Given the description of an element on the screen output the (x, y) to click on. 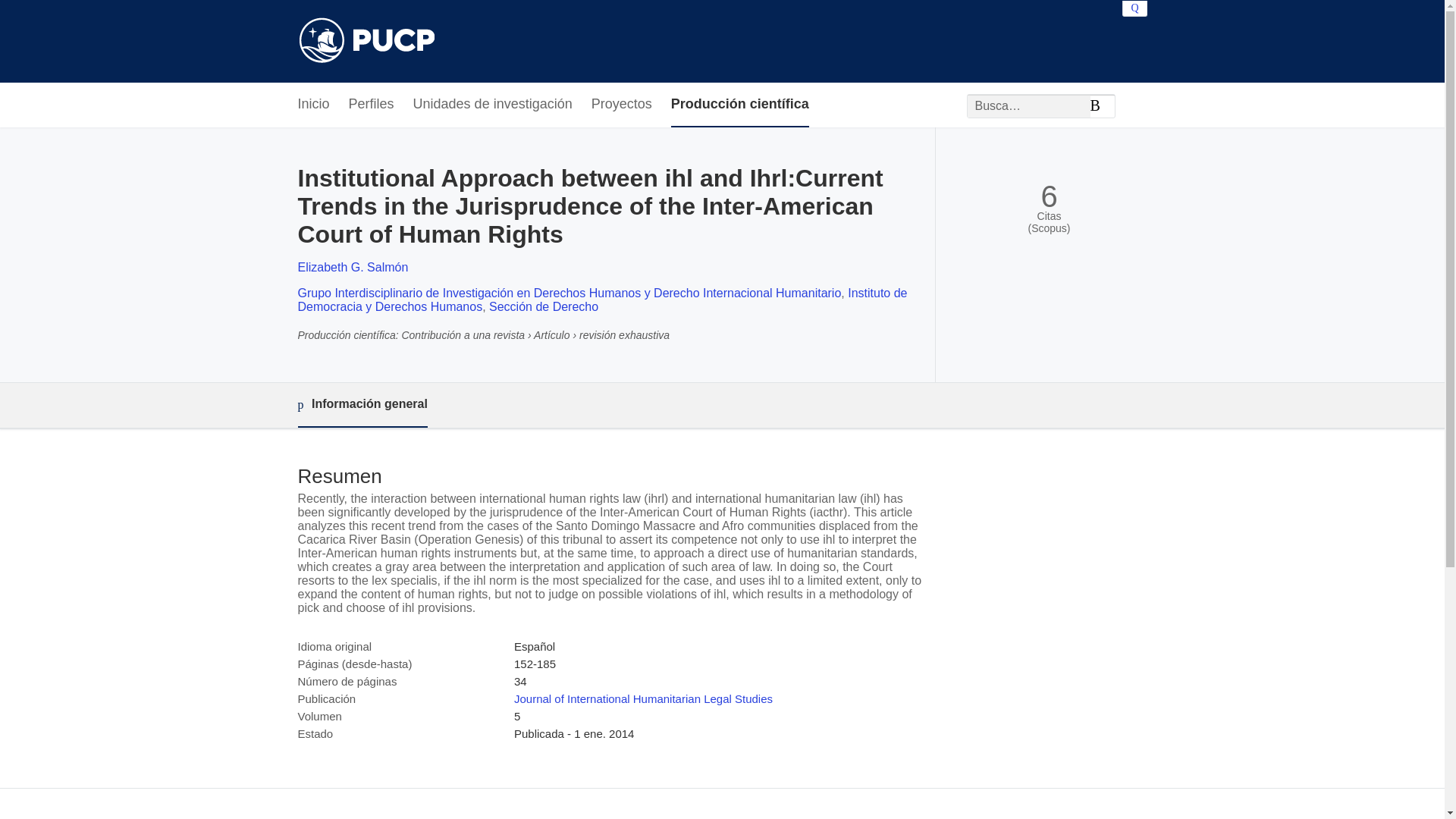
Perfiles (371, 104)
Proyectos (621, 104)
Journal of International Humanitarian Legal Studies (643, 698)
Instituto de Democracia y Derechos Humanos (602, 299)
